Given the description of an element on the screen output the (x, y) to click on. 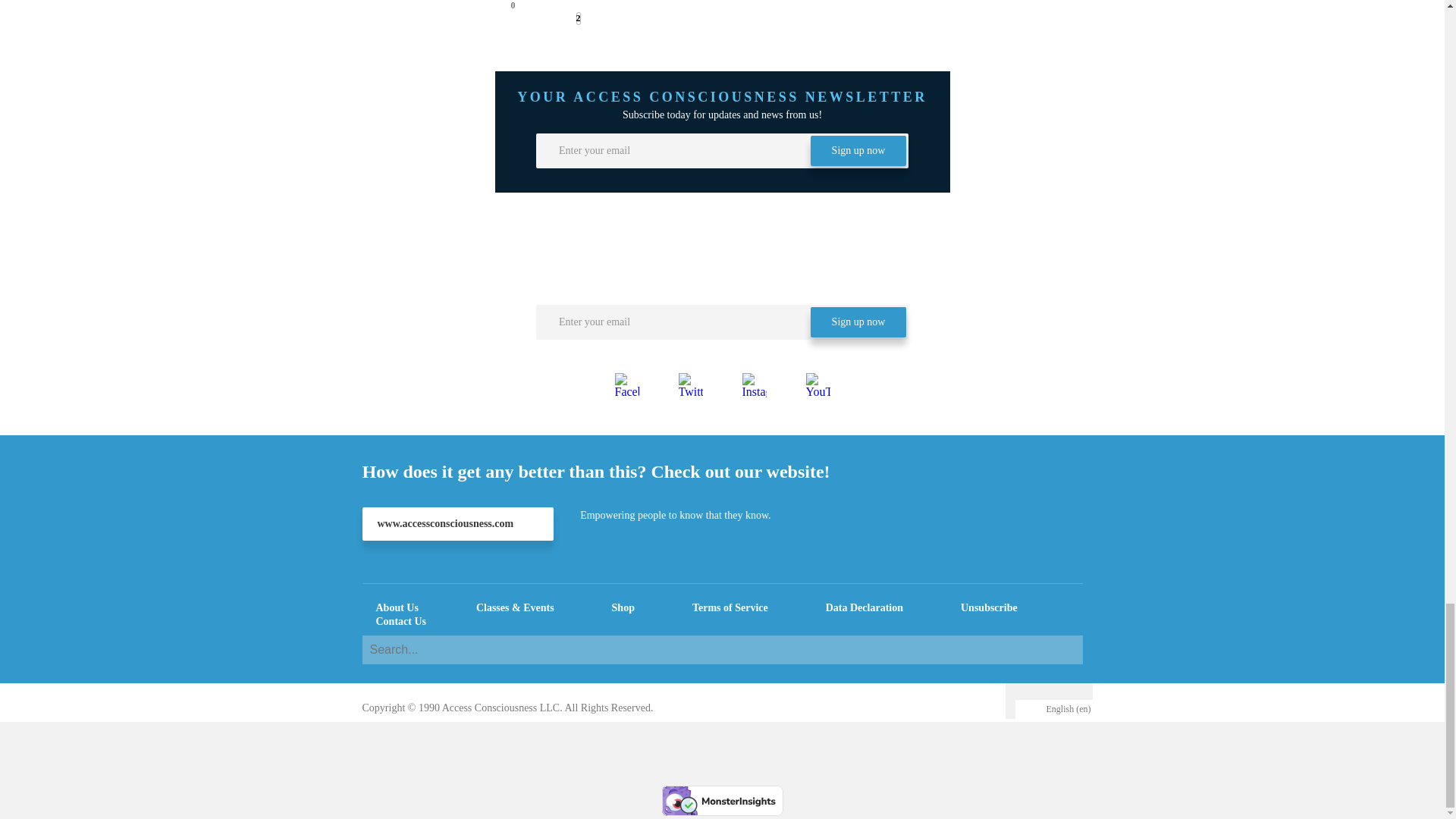
Instagram (754, 385)
Sign up now (857, 150)
Facebook (626, 385)
YouTube (817, 385)
www.accessconsciousness.com (458, 523)
Sign up now (857, 322)
Sign up now (815, 511)
Facebook (627, 385)
Sign up now (815, 340)
Instagram (753, 385)
Sign up now (857, 150)
Sign up now (857, 322)
About Us (397, 607)
www.accessconsciousness.com (458, 523)
Twitter (689, 385)
